Given the description of an element on the screen output the (x, y) to click on. 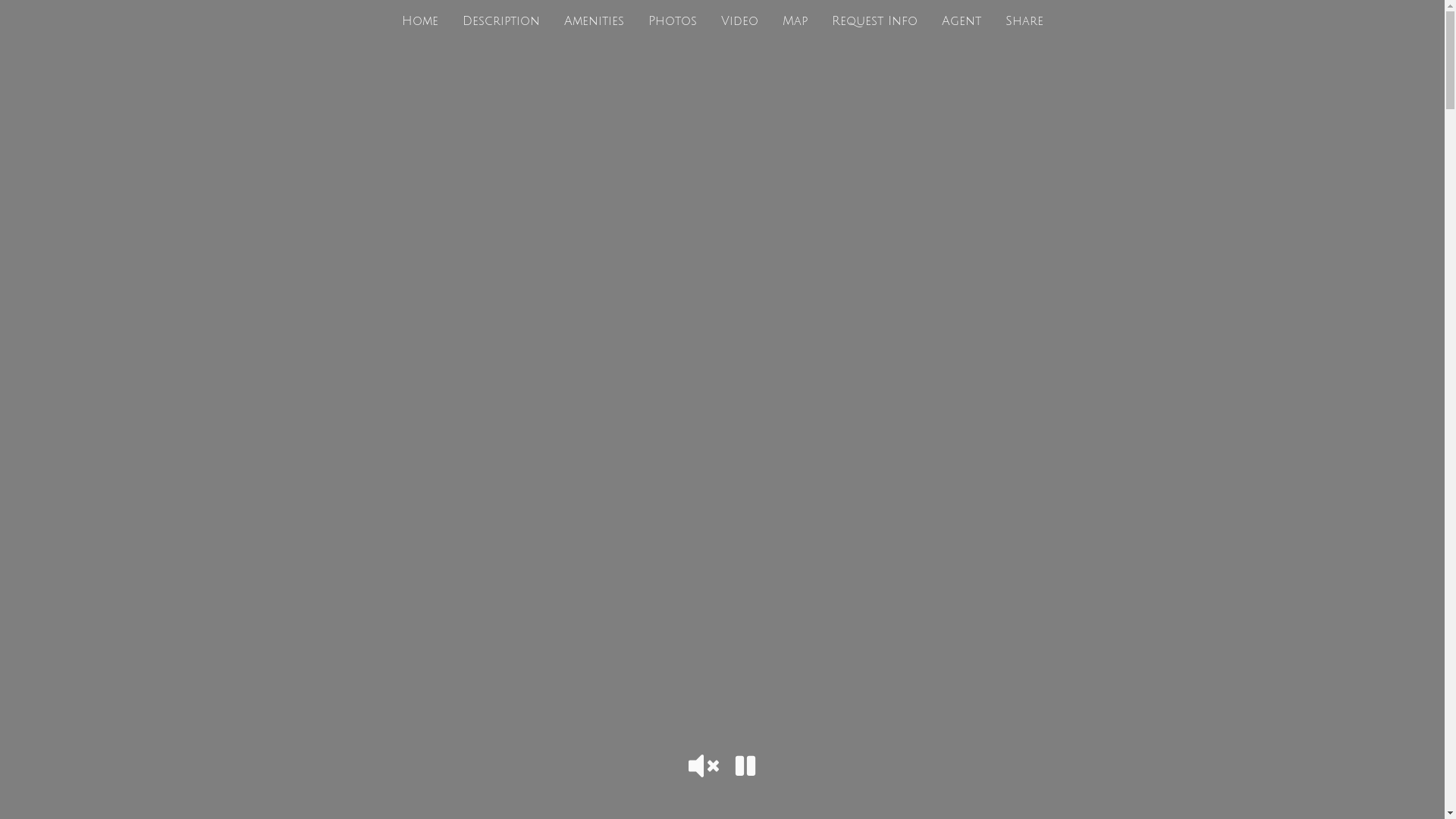
Description Element type: text (501, 21)
Home Element type: text (419, 21)
Share Element type: text (1024, 21)
Agent Element type: text (961, 21)
Video Element type: text (738, 21)
Amenities Element type: text (594, 21)
Map Element type: text (794, 21)
Photos Element type: text (671, 21)
Request Info Element type: text (873, 21)
